Given the description of an element on the screen output the (x, y) to click on. 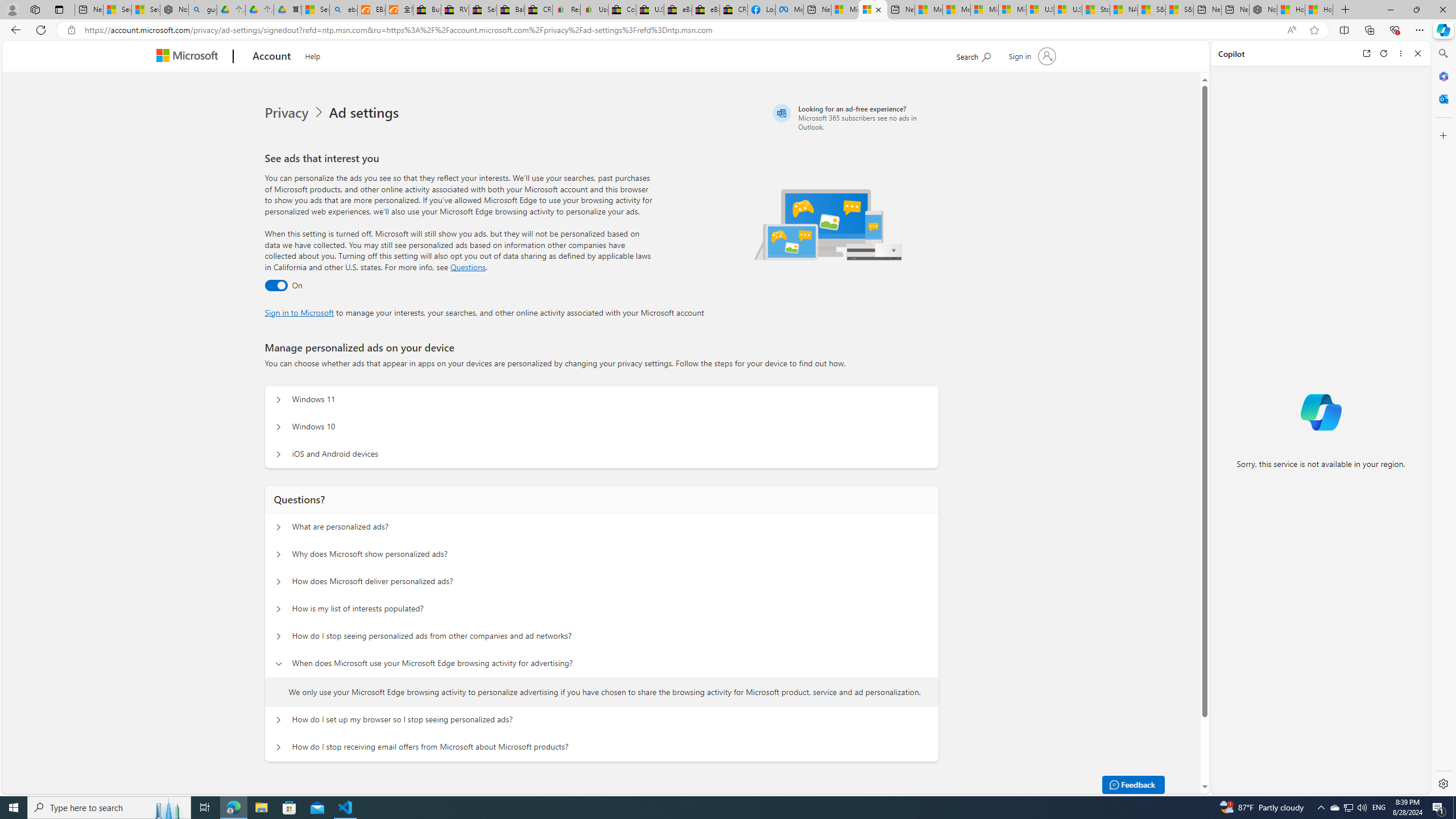
Microsoft 365 (1442, 76)
Manage personalized ads on your device Windows 10 (278, 427)
Looking for an ad-free experience? (854, 117)
Help (312, 54)
S&P 500, Nasdaq end lower, weighed by Nvidia dip | Watch (1179, 9)
Log into Facebook (761, 9)
RV, Trailer & Camper Steps & Ladders for sale | eBay (454, 9)
U.S. State Privacy Disclosures - eBay Inc. (649, 9)
